Given the description of an element on the screen output the (x, y) to click on. 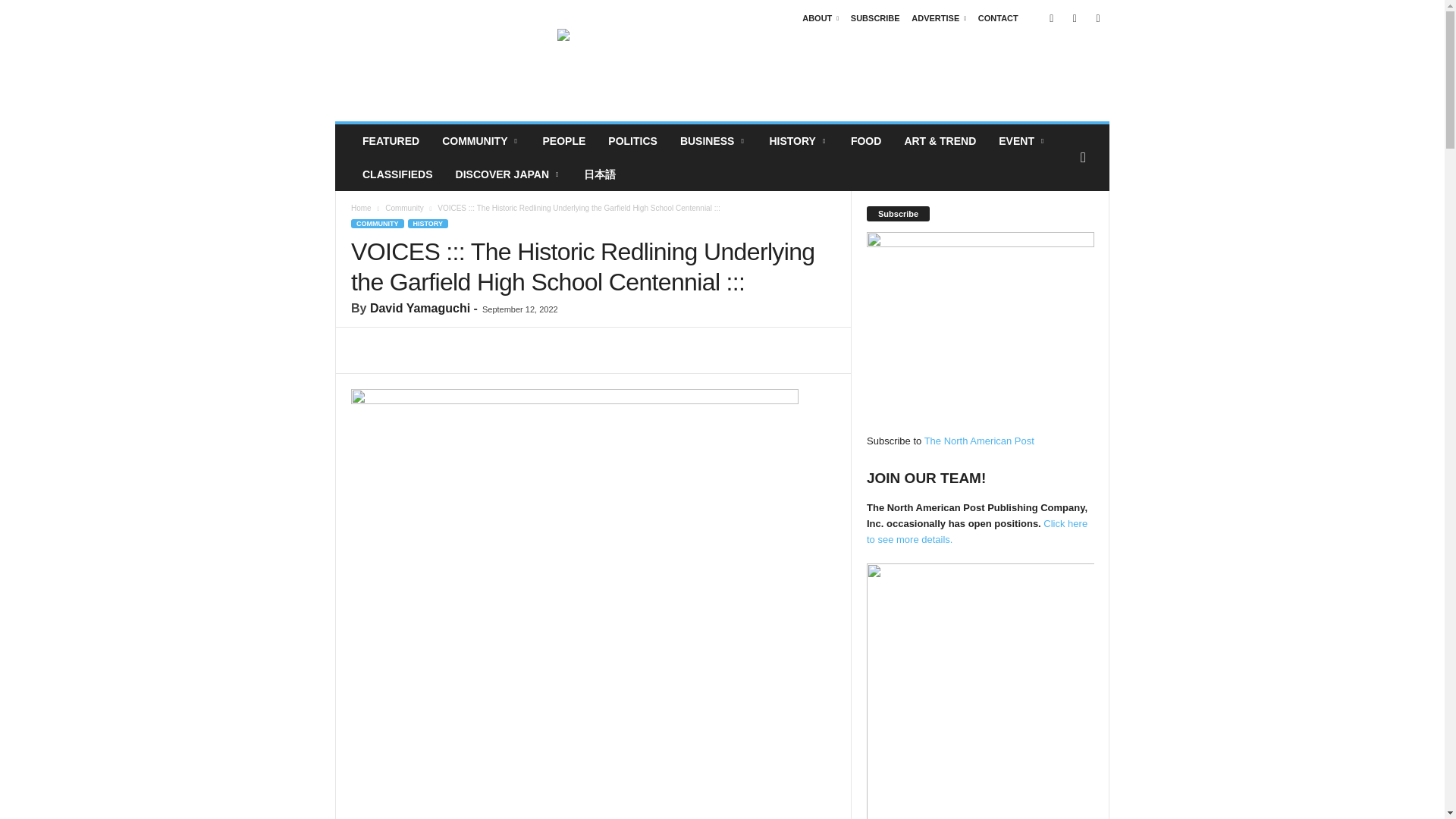
SUBSCRIBE (874, 17)
ADVERTISE (938, 17)
View all posts in Community (404, 207)
ABOUT (820, 17)
